Given the description of an element on the screen output the (x, y) to click on. 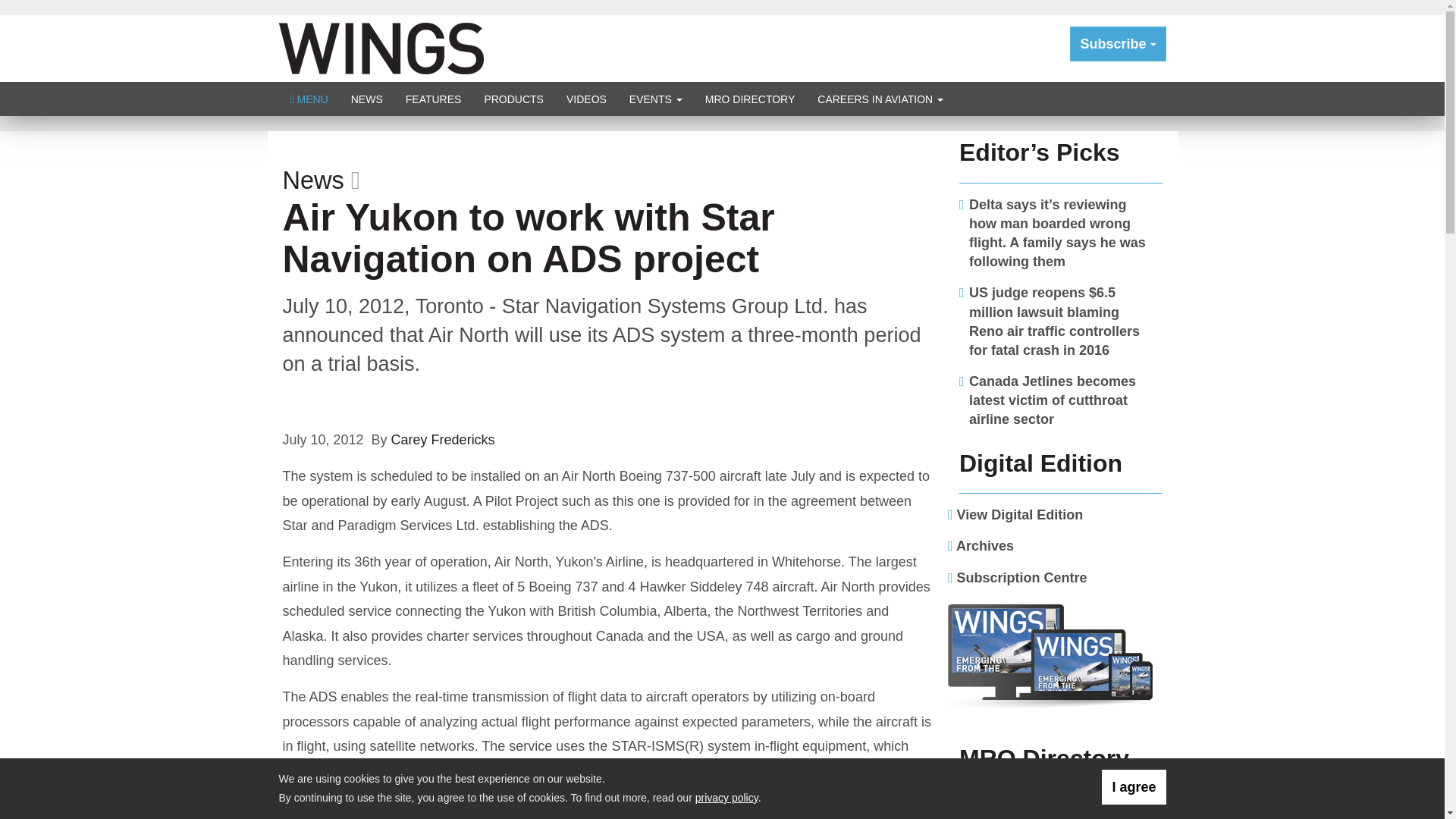
MENU (309, 98)
Subscribe (1118, 43)
Wings Magazine (381, 47)
NEWS (366, 98)
EVENTS (655, 98)
VIDEOS (585, 98)
FEATURES (433, 98)
Click to show site navigation (309, 98)
CAREERS IN AVIATION (880, 98)
MRO DIRECTORY (750, 98)
